Given the description of an element on the screen output the (x, y) to click on. 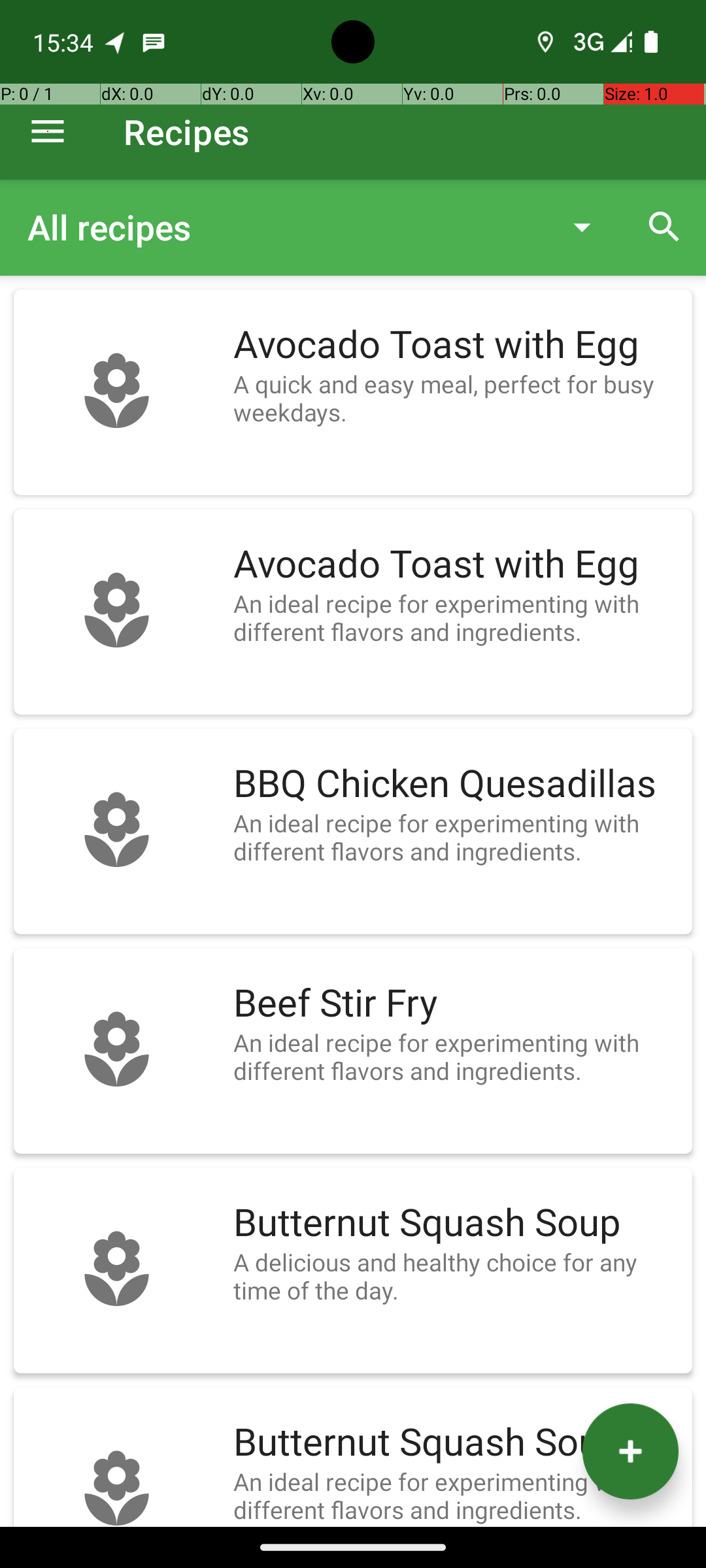
Avocado Toast with Egg Element type: android.widget.TextView (455, 344)
BBQ Chicken Quesadillas Element type: android.widget.TextView (455, 783)
Beef Stir Fry Element type: android.widget.TextView (455, 1003)
Butternut Squash Soup Element type: android.widget.TextView (455, 1222)
